Given the description of an element on the screen output the (x, y) to click on. 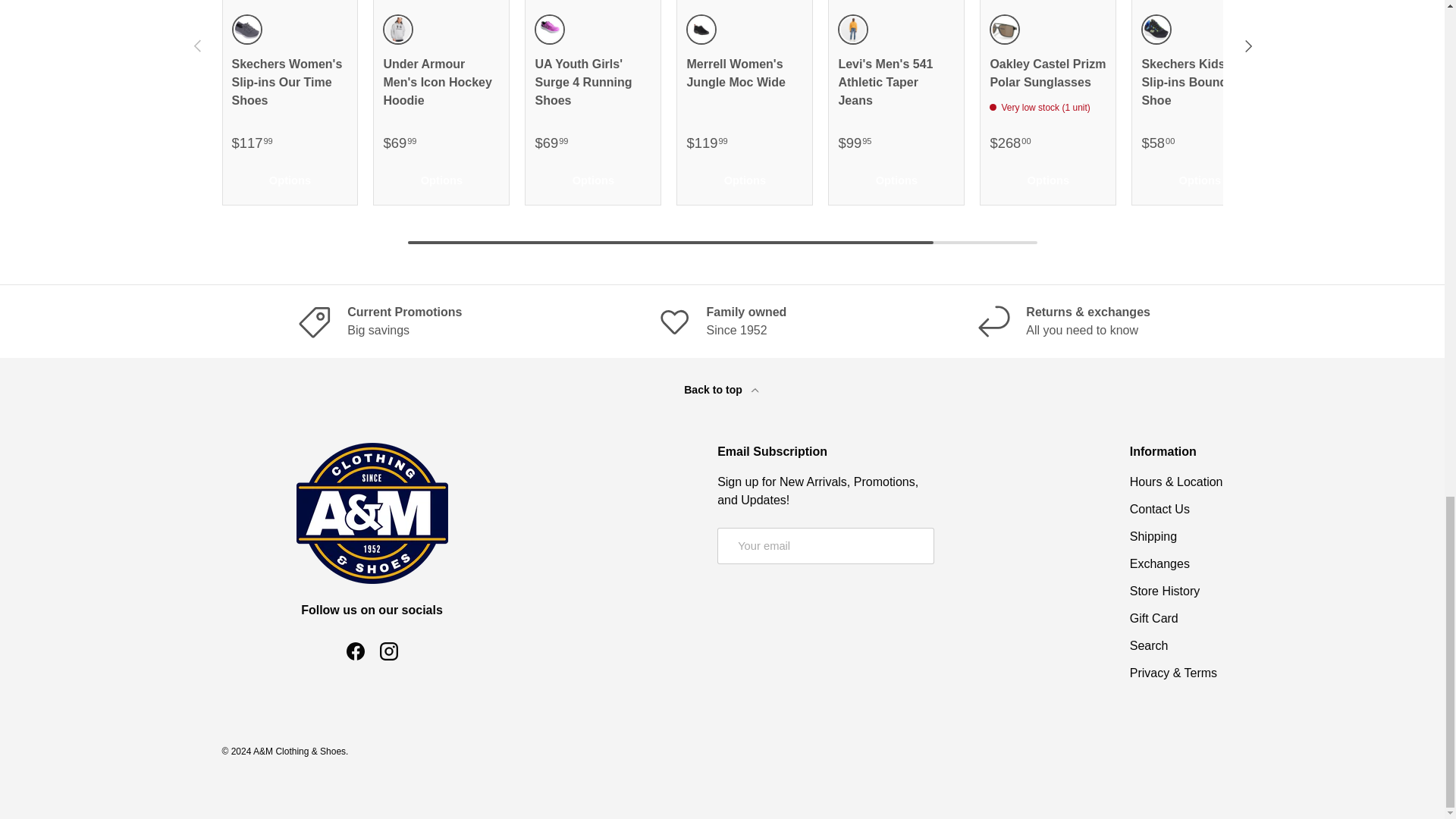
OLIVE (1004, 29)
CHARCOAL (246, 29)
BLACK (700, 29)
MAGENTA (549, 29)
Fremont Drop Shot (853, 29)
